Given the description of an element on the screen output the (x, y) to click on. 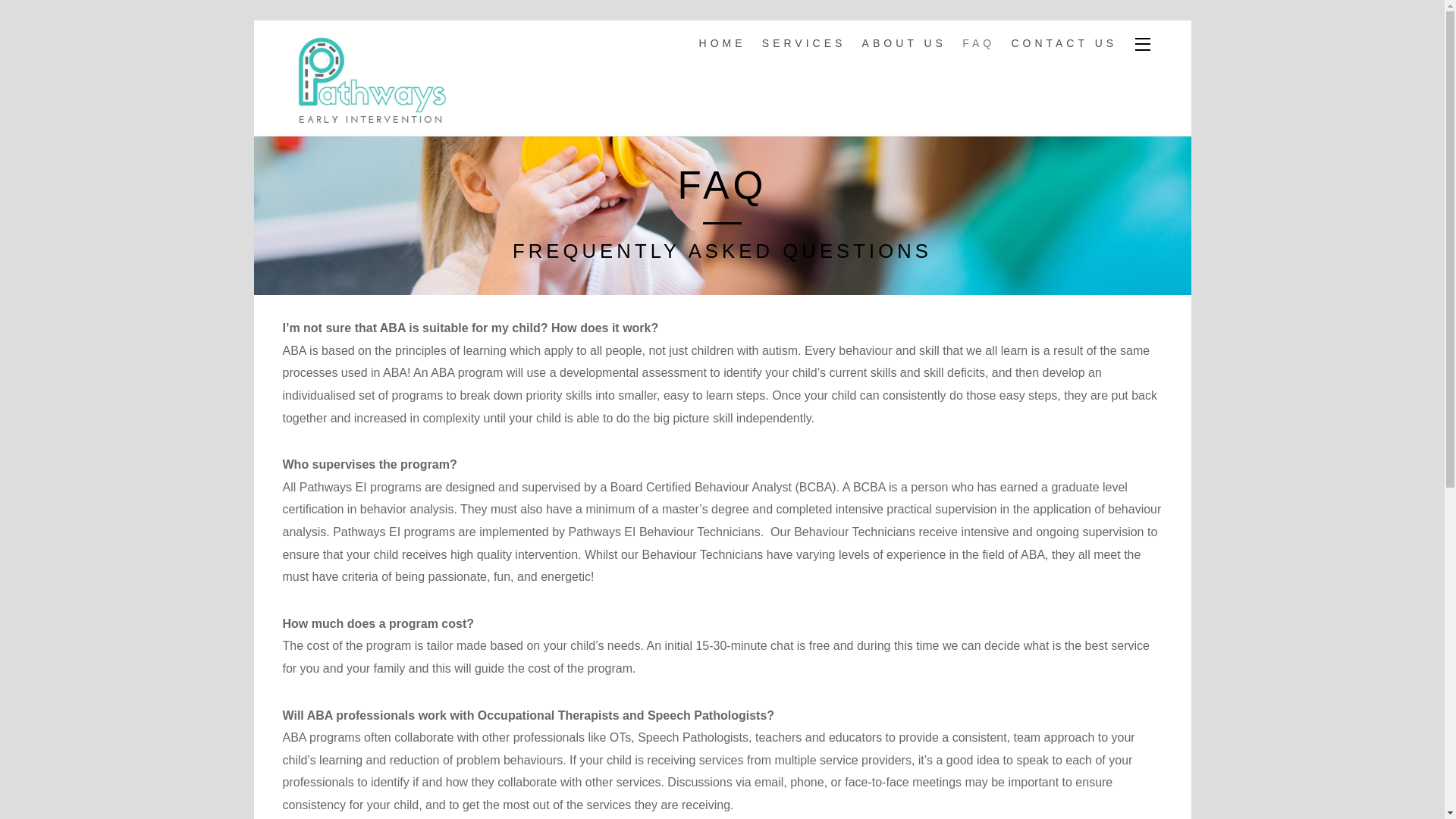
ABOUT US (904, 43)
CONTACT US (1064, 43)
Pathways Early Intervention (369, 80)
SERVICES (803, 43)
HOME (722, 43)
Pathways Early Intervention (369, 118)
FAQ (978, 43)
